Given the description of an element on the screen output the (x, y) to click on. 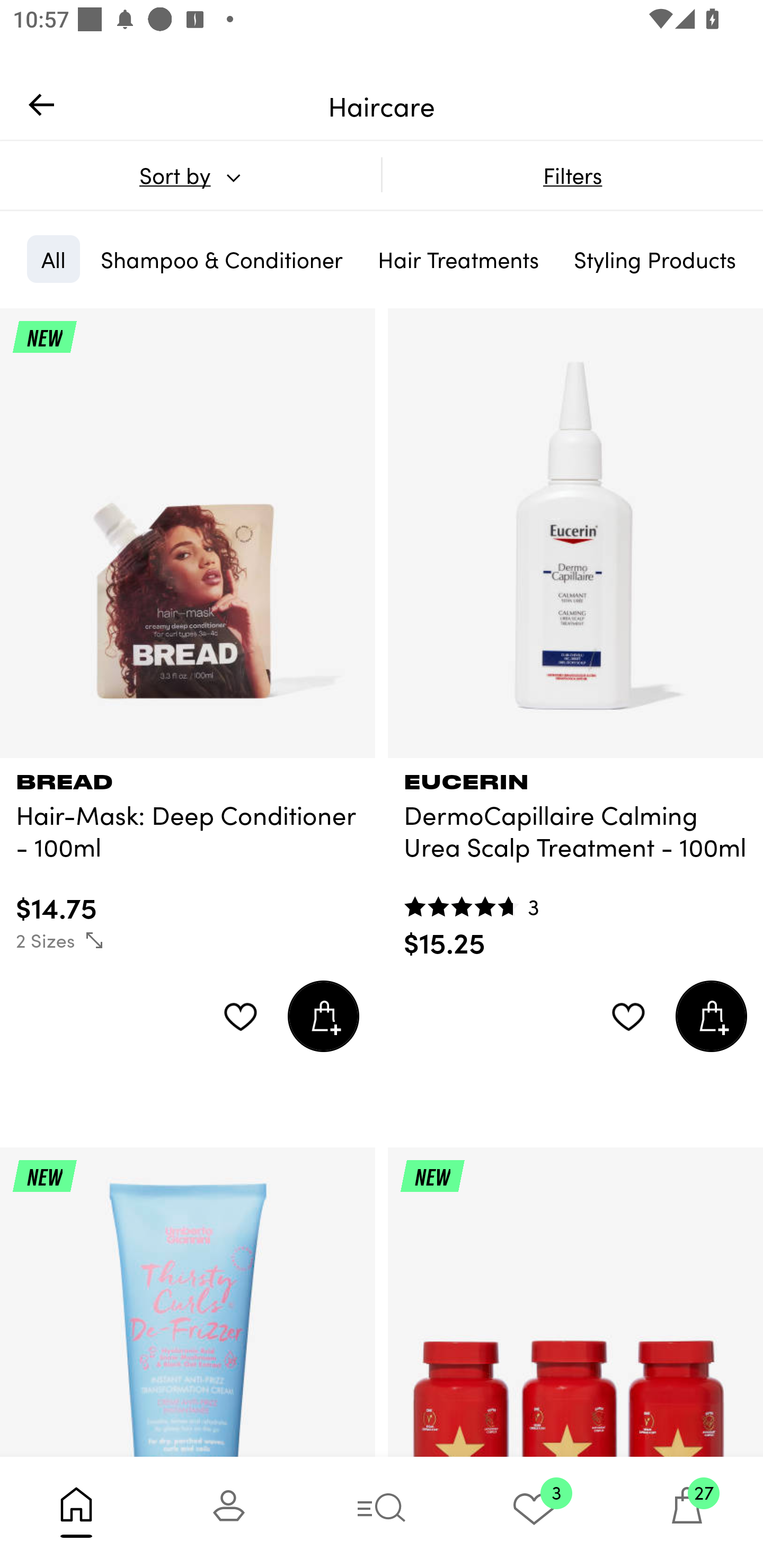
Sort by (190, 174)
Filters (572, 174)
All (53, 258)
Shampoo & Conditioner (221, 258)
Hair Treatments (458, 258)
Styling Products (654, 258)
3 (533, 1512)
27 (686, 1512)
